Given the description of an element on the screen output the (x, y) to click on. 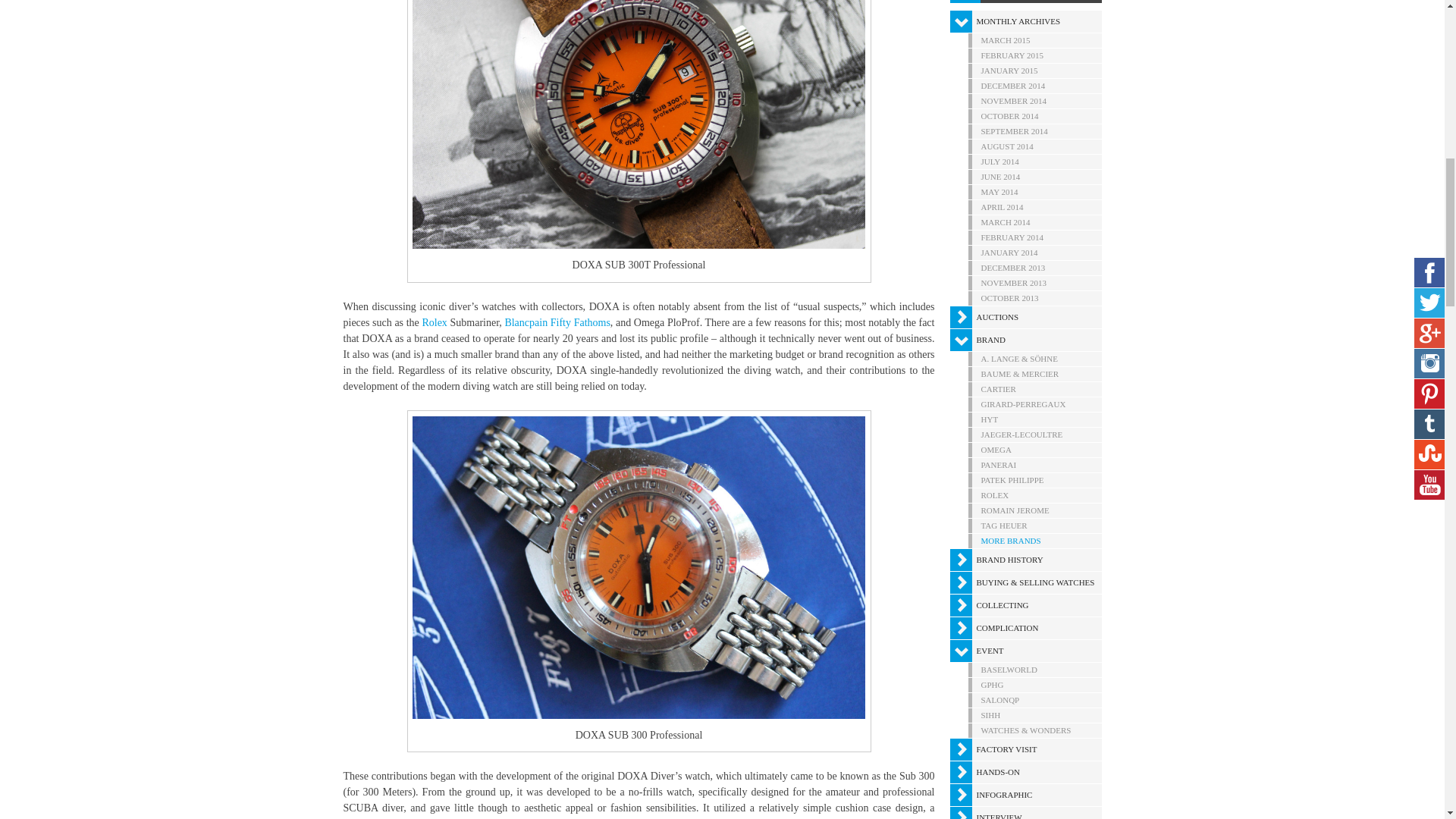
Rolex (434, 322)
DOXA SUB 300T Professional (639, 124)
Blancpain Fifty Fathoms (556, 322)
